Given the description of an element on the screen output the (x, y) to click on. 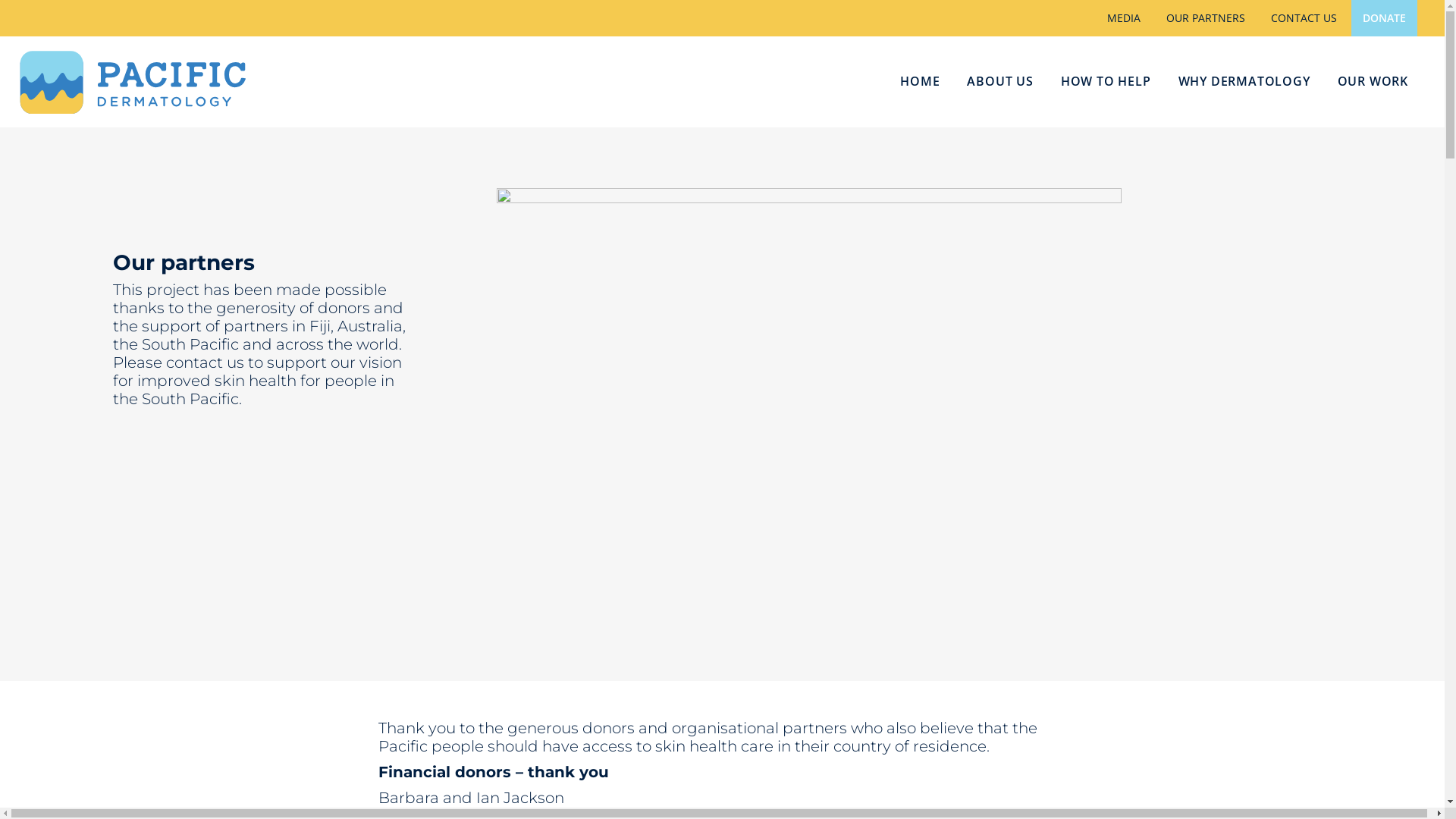
OUR WORK Element type: text (1372, 81)
HOME Element type: text (919, 81)
MEDIA Element type: text (1123, 18)
DONATE Element type: text (1384, 18)
OUR PARTNERS Element type: text (1205, 18)
HOW TO HELP Element type: text (1105, 81)
ABOUT US Element type: text (999, 81)
CONTACT US Element type: text (1303, 18)
WHY DERMATOLOGY Element type: text (1244, 81)
